Given the description of an element on the screen output the (x, y) to click on. 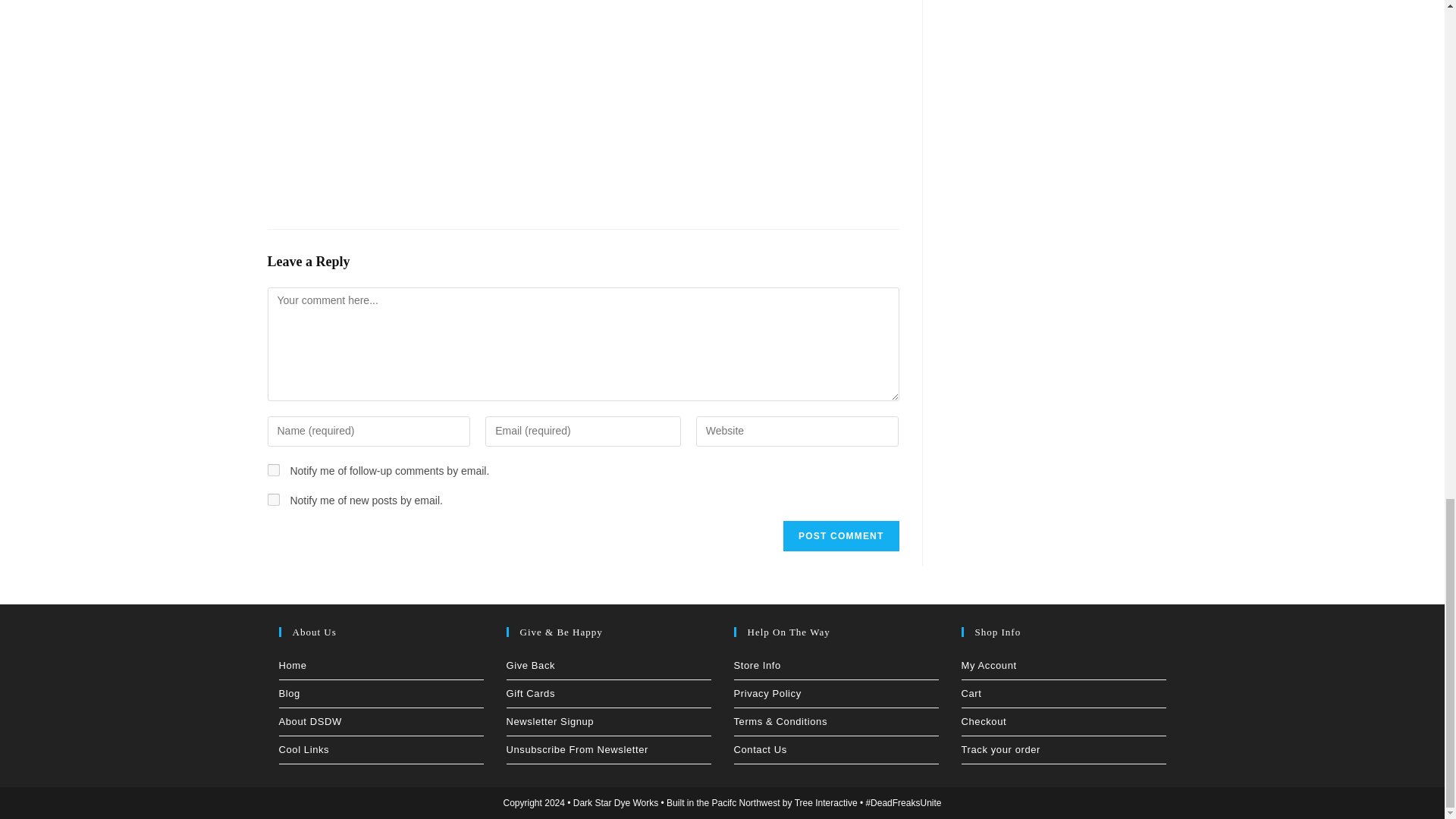
subscribe (272, 469)
subscribe (272, 499)
Post Comment (840, 535)
